Given the description of an element on the screen output the (x, y) to click on. 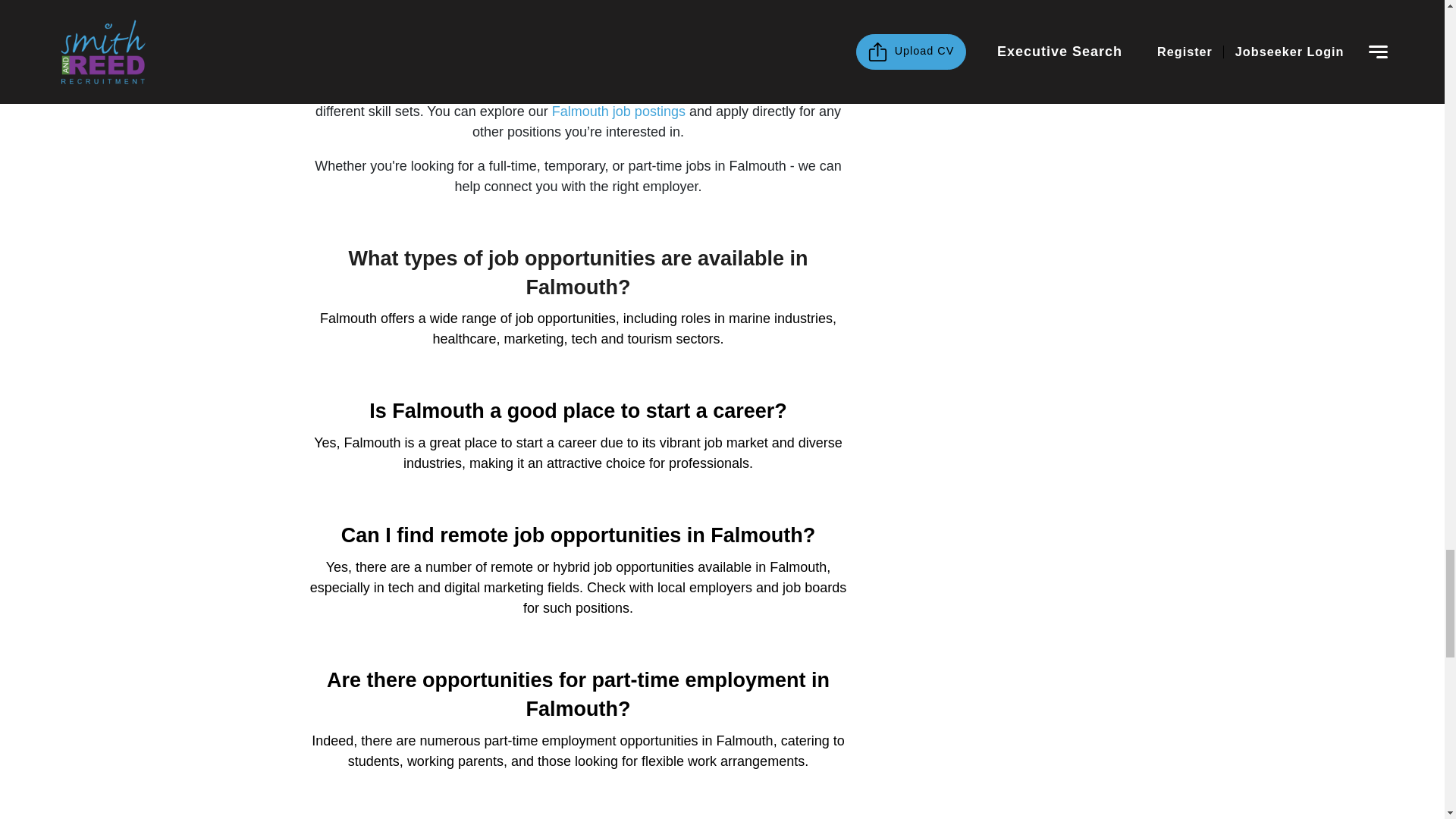
Falmouth job postings (618, 111)
